Given the description of an element on the screen output the (x, y) to click on. 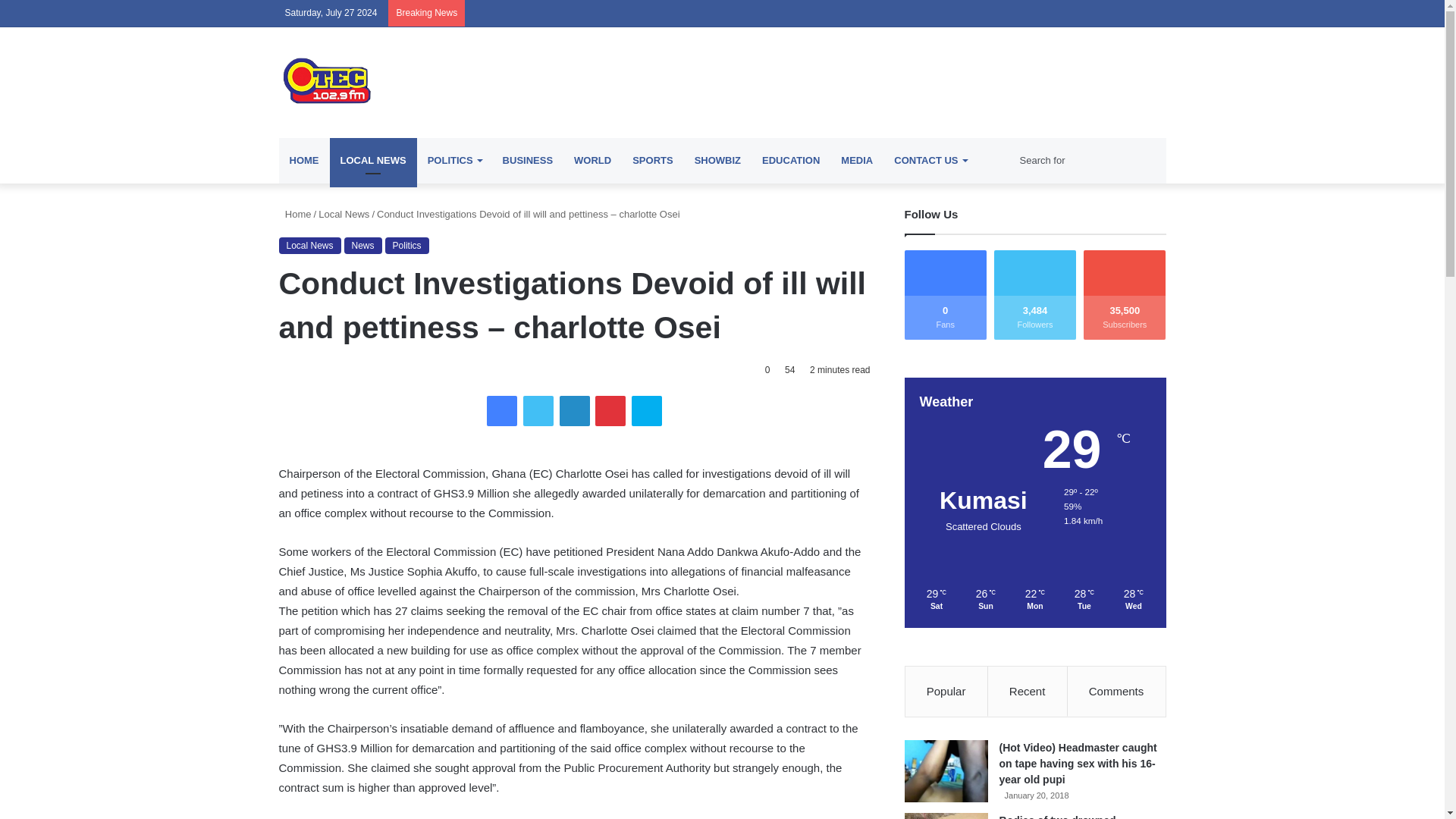
Local News (309, 245)
Facebook (501, 410)
LOCAL NEWS (372, 160)
SPORTS (651, 160)
Pinterest (610, 410)
WORLD (592, 160)
Search for (1088, 160)
CONTACT US (929, 160)
Home (295, 214)
SHOWBIZ (717, 160)
Twitter (537, 410)
Skype (646, 410)
Local News (343, 214)
POLITICS (454, 160)
EDUCATION (790, 160)
